Given the description of an element on the screen output the (x, y) to click on. 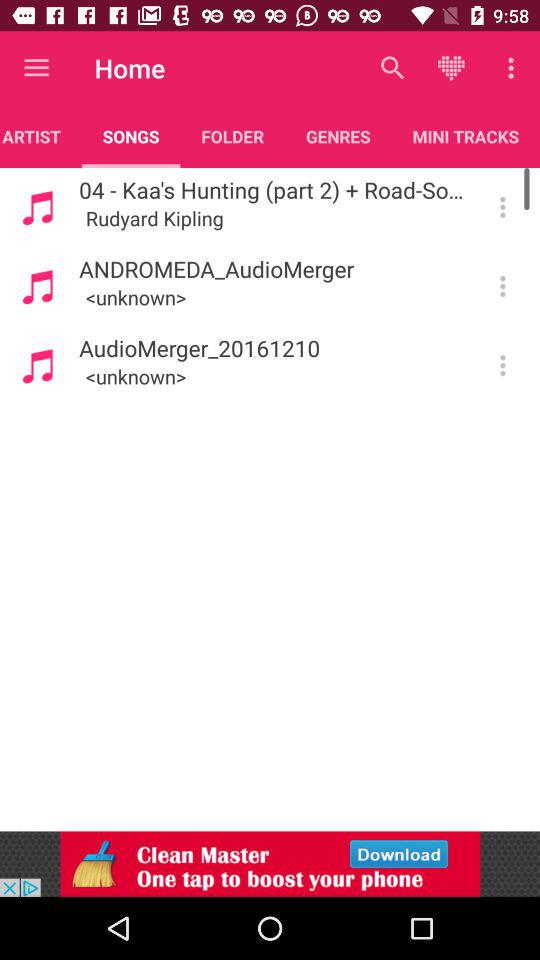
more information (502, 207)
